Given the description of an element on the screen output the (x, y) to click on. 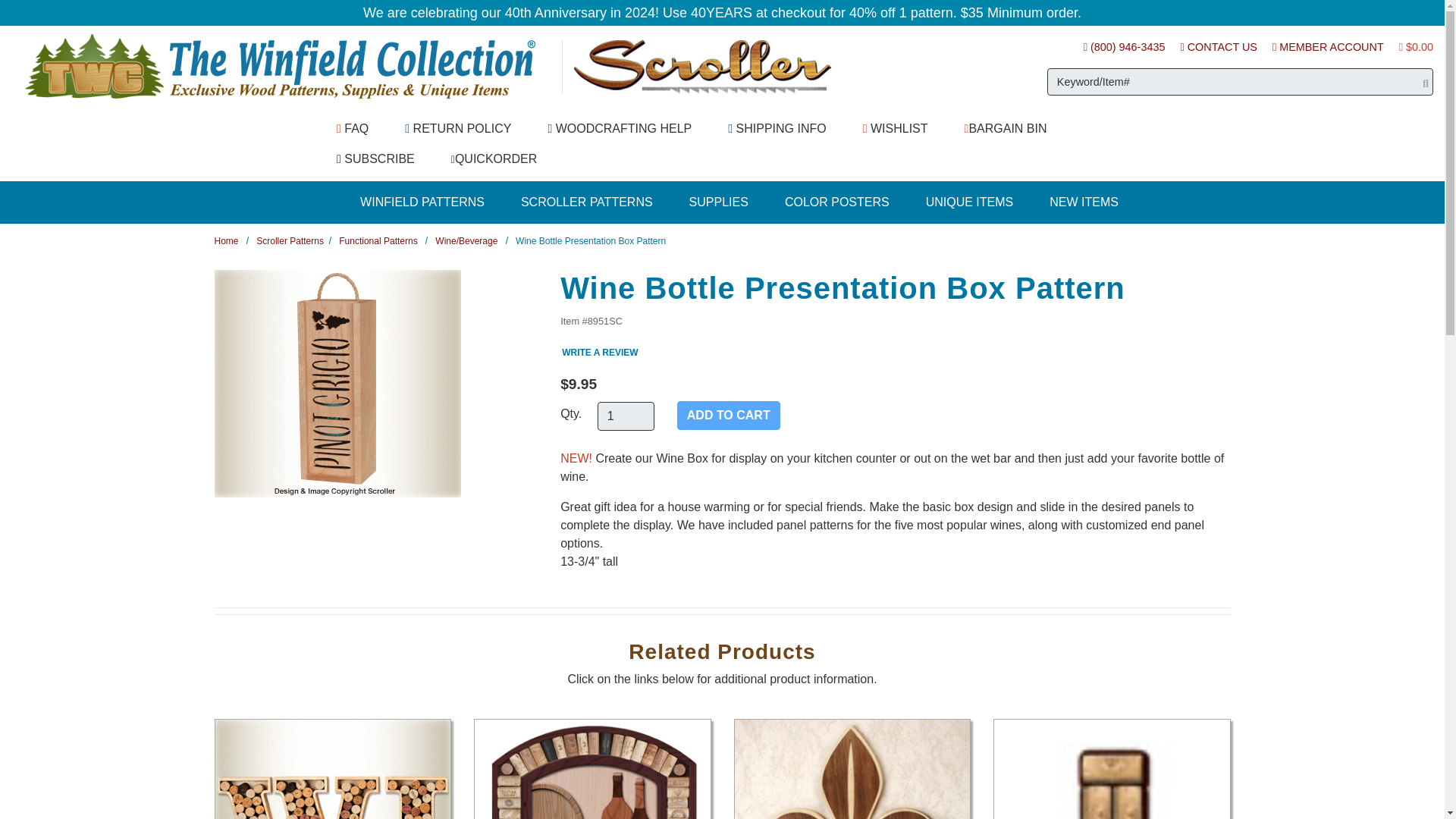
Add to Cart (728, 415)
1 (624, 416)
